Given the description of an element on the screen output the (x, y) to click on. 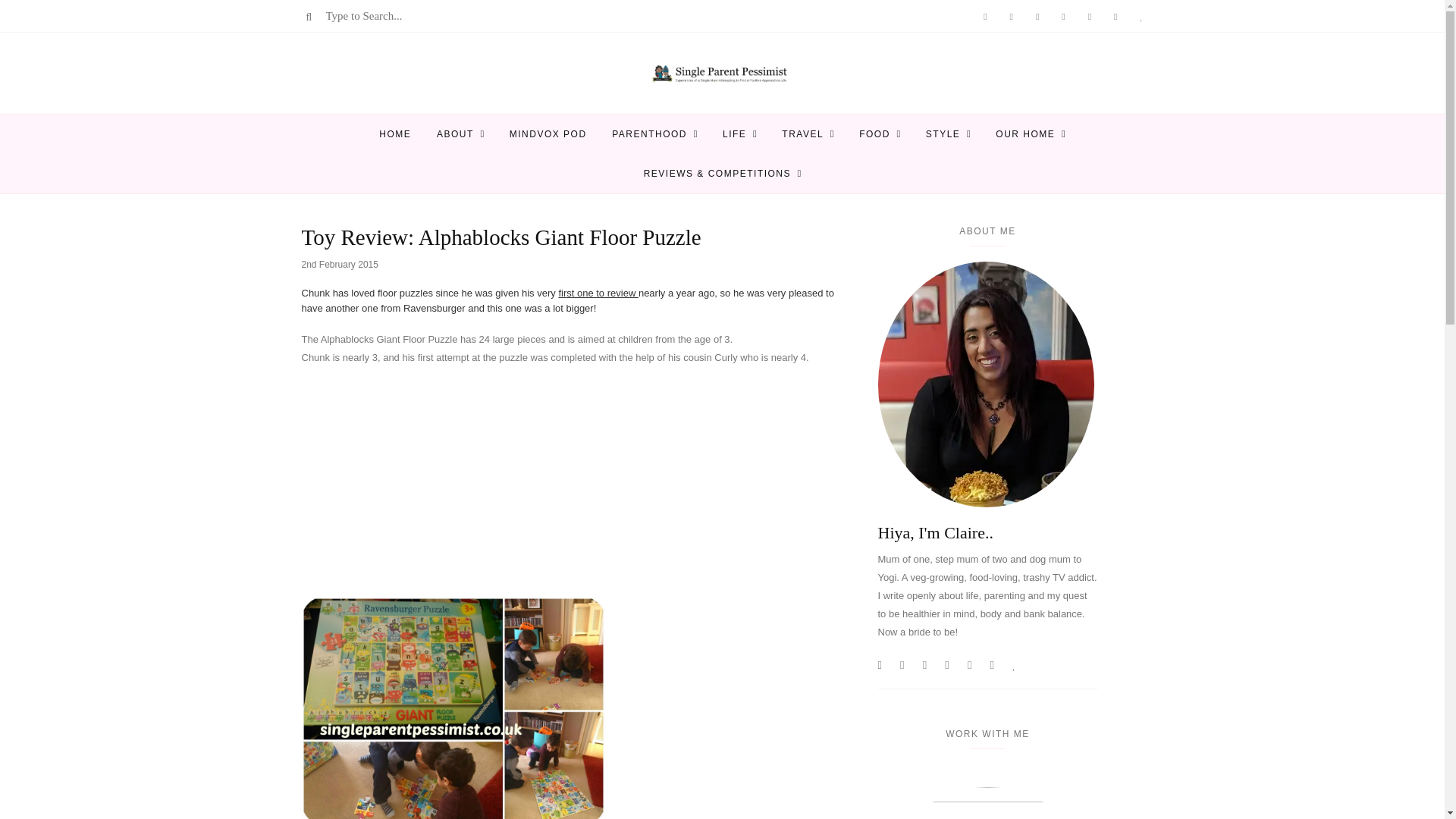
Advertisement (578, 489)
TRAVEL (802, 133)
ABOUT (455, 133)
MINDVOX POD (547, 133)
PARENTHOOD (649, 133)
